Given the description of an element on the screen output the (x, y) to click on. 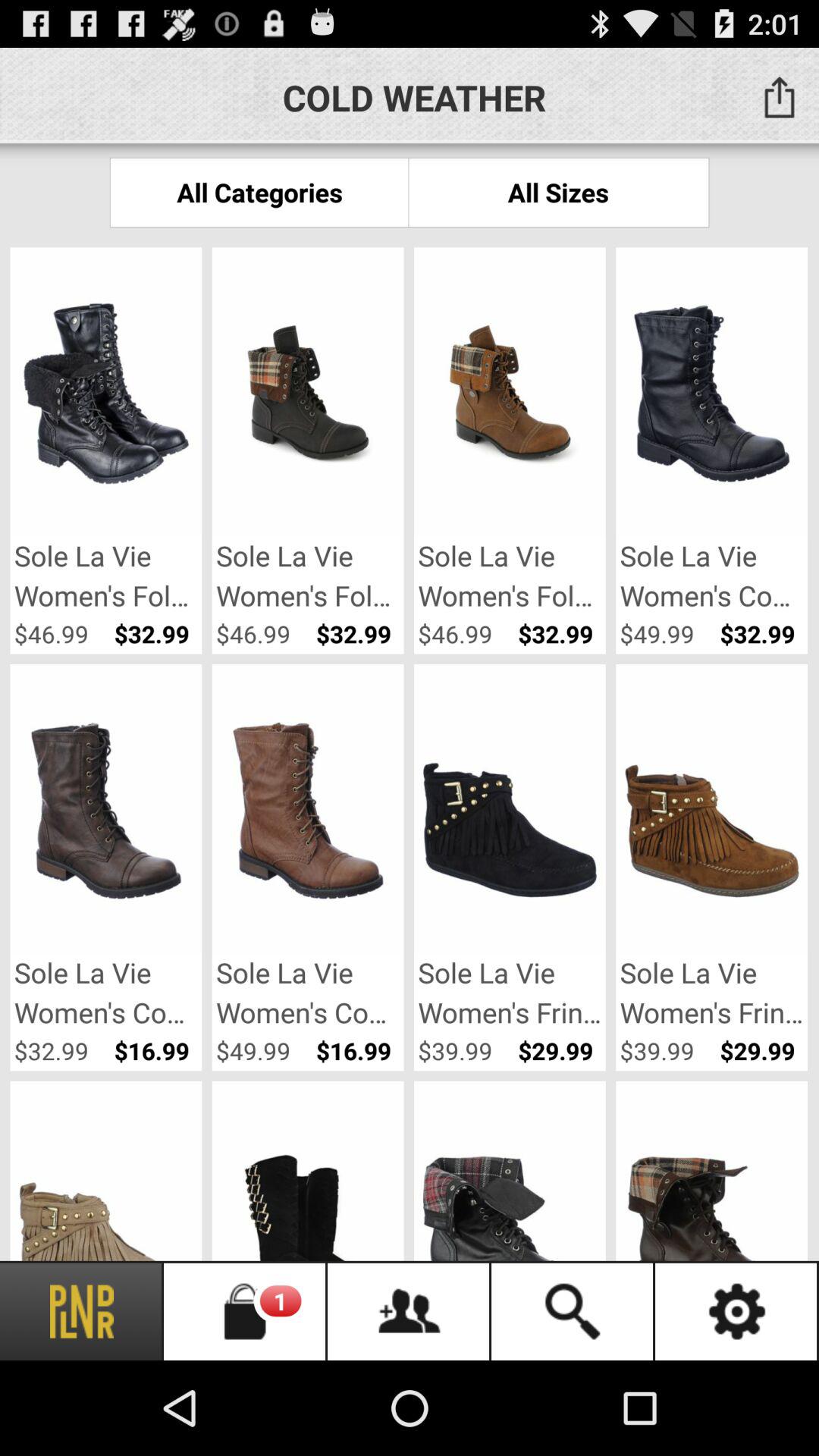
select the app next to all sizes item (259, 192)
